Given the description of an element on the screen output the (x, y) to click on. 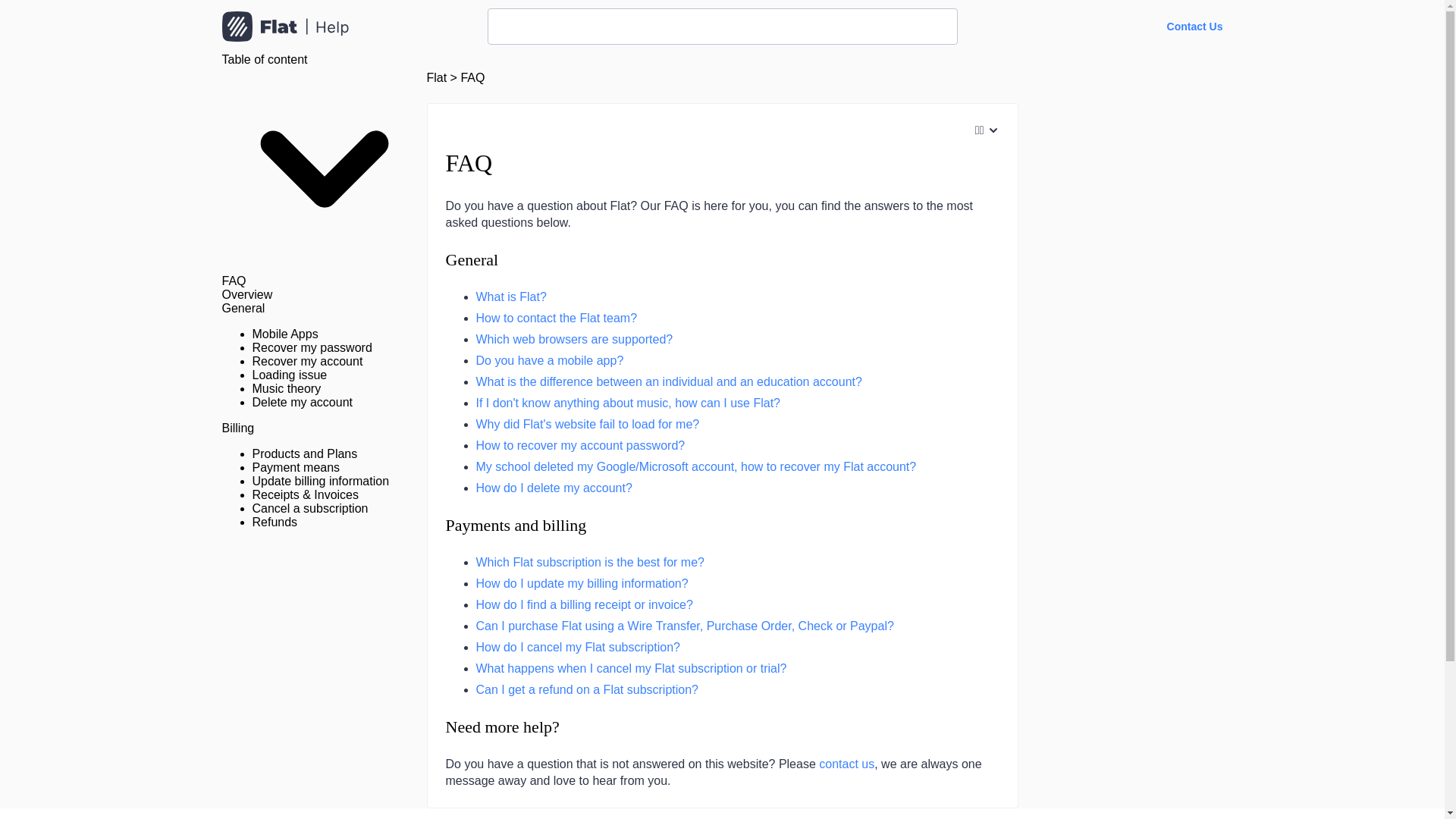
General (472, 259)
If I don't know anything about music, how can I use Flat? (628, 402)
How do I find a billing receipt or invoice? (584, 604)
Recover my password (311, 347)
Do you have a mobile app? (550, 359)
Products and Plans (303, 453)
How to recover my account password? (580, 445)
Payments and billing (515, 524)
Delete my account (301, 401)
Which web browsers are supported? (574, 338)
